Given the description of an element on the screen output the (x, y) to click on. 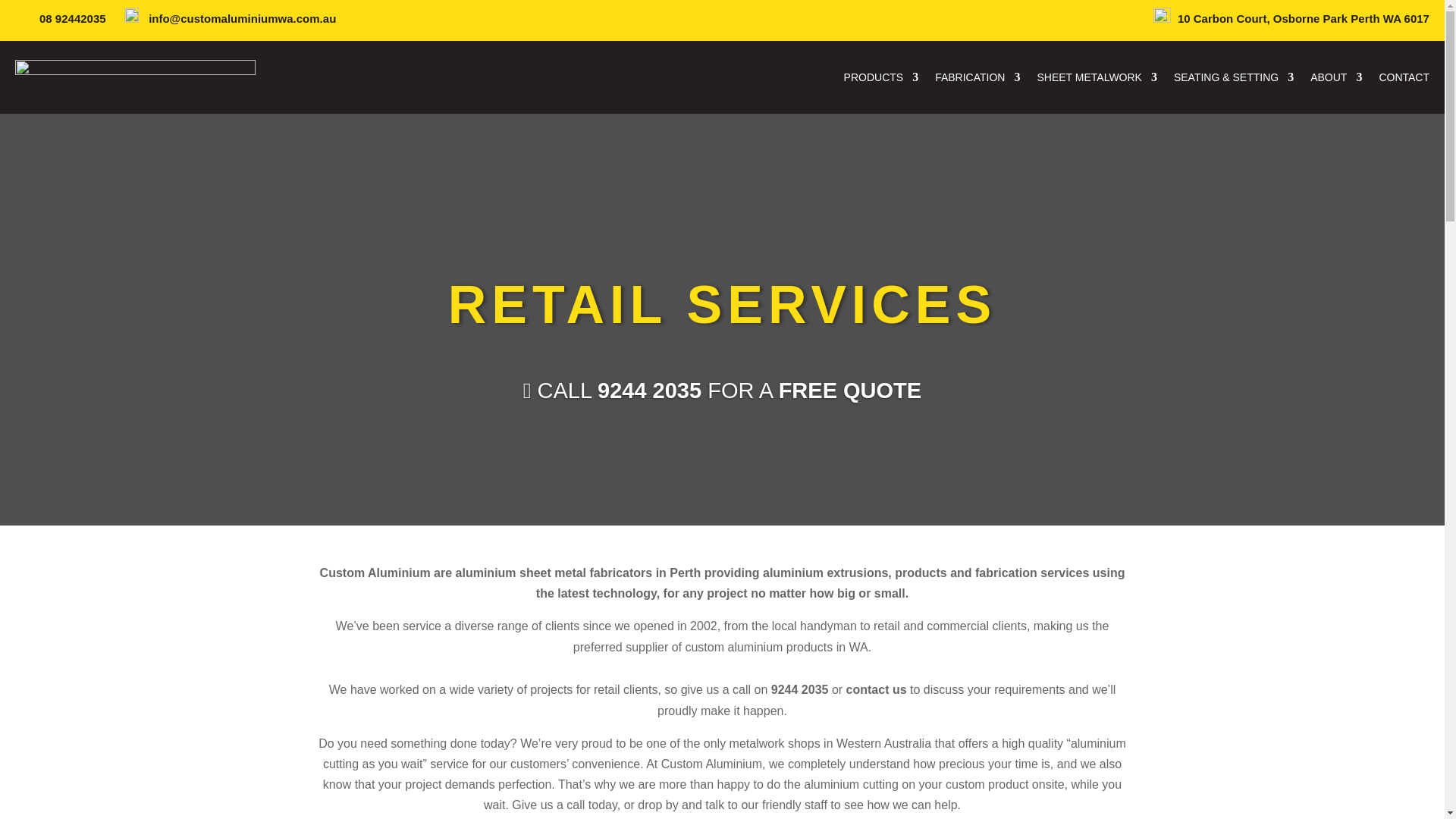
PRODUCTS (881, 77)
08 92442035  (74, 18)
contact us (877, 689)
ABOUT (1335, 77)
9244 2035 (799, 689)
10 Carbon Court, Osborne Park Perth WA 6017 (1303, 18)
9244 2035 (648, 390)
FABRICATION (977, 77)
contact us  (877, 689)
SHEET METALWORK (1096, 77)
